Given the description of an element on the screen output the (x, y) to click on. 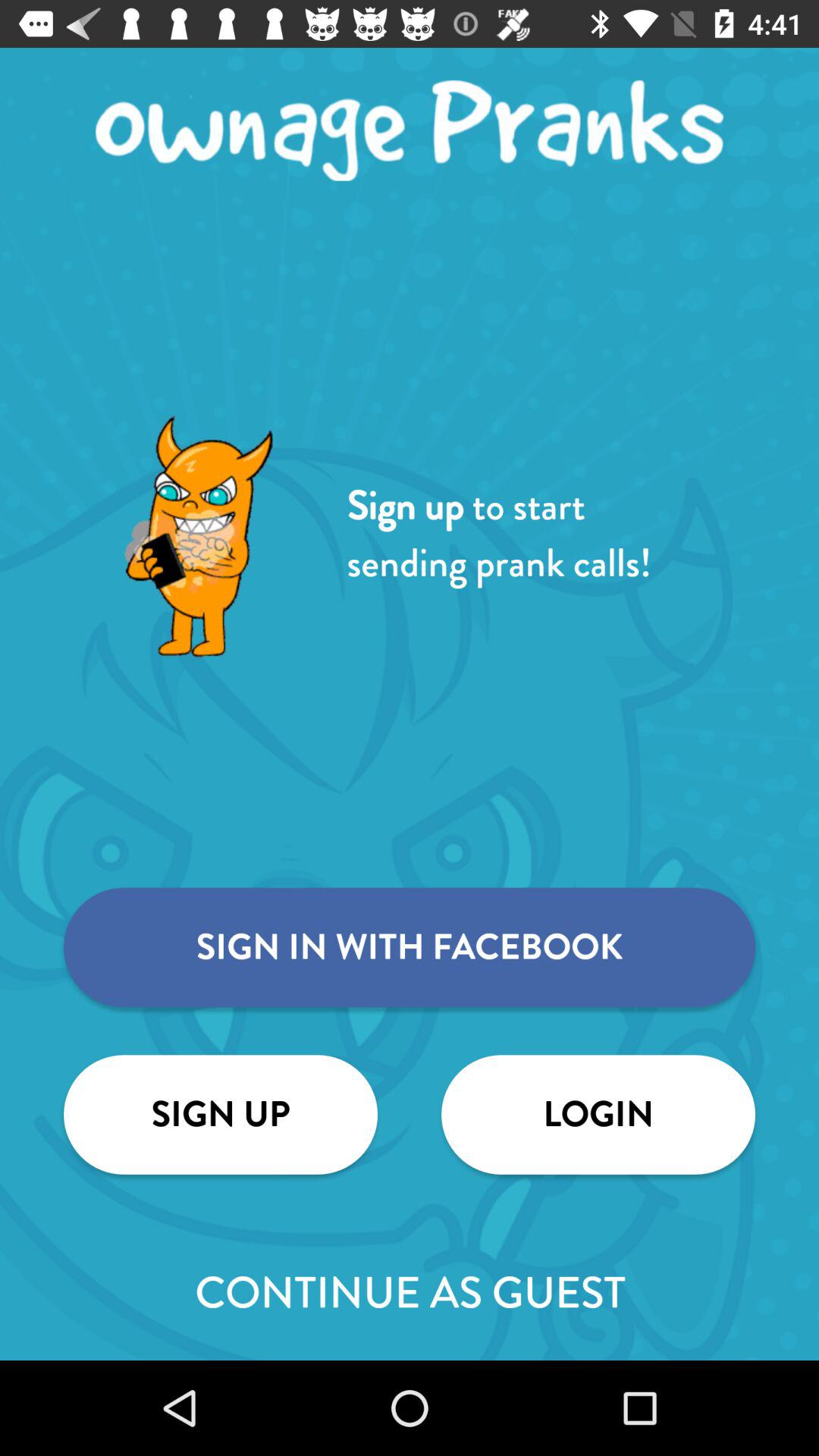
click item to the right of the sign up item (598, 1114)
